Given the description of an element on the screen output the (x, y) to click on. 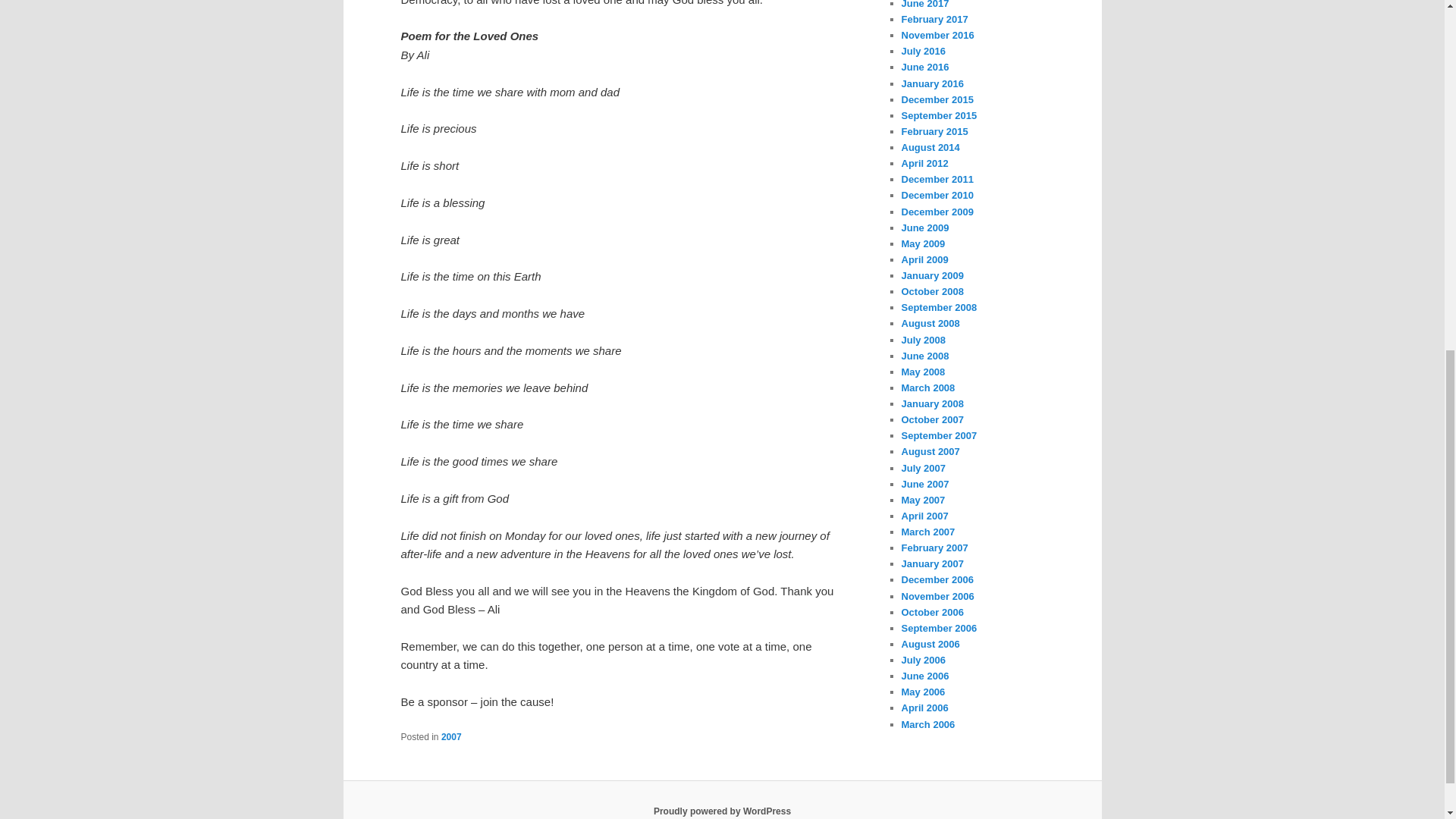
Semantic Personal Publishing Platform (721, 810)
June 2017 (925, 4)
2007 (451, 737)
September 2015 (938, 115)
February 2017 (934, 19)
June 2016 (925, 66)
November 2016 (937, 34)
December 2015 (936, 99)
January 2016 (931, 83)
July 2016 (922, 50)
